Given the description of an element on the screen output the (x, y) to click on. 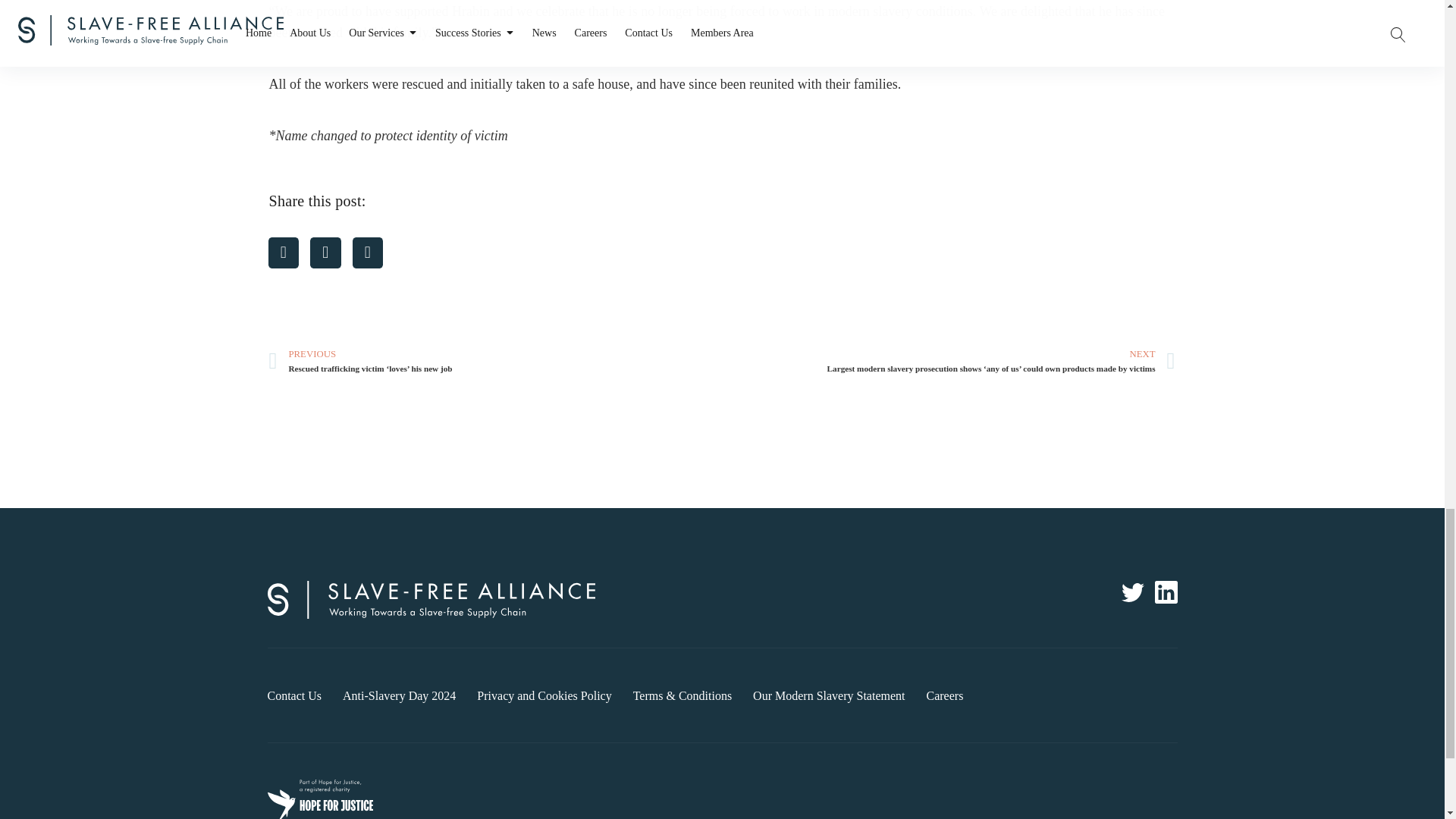
Contact Us (293, 695)
